Given the description of an element on the screen output the (x, y) to click on. 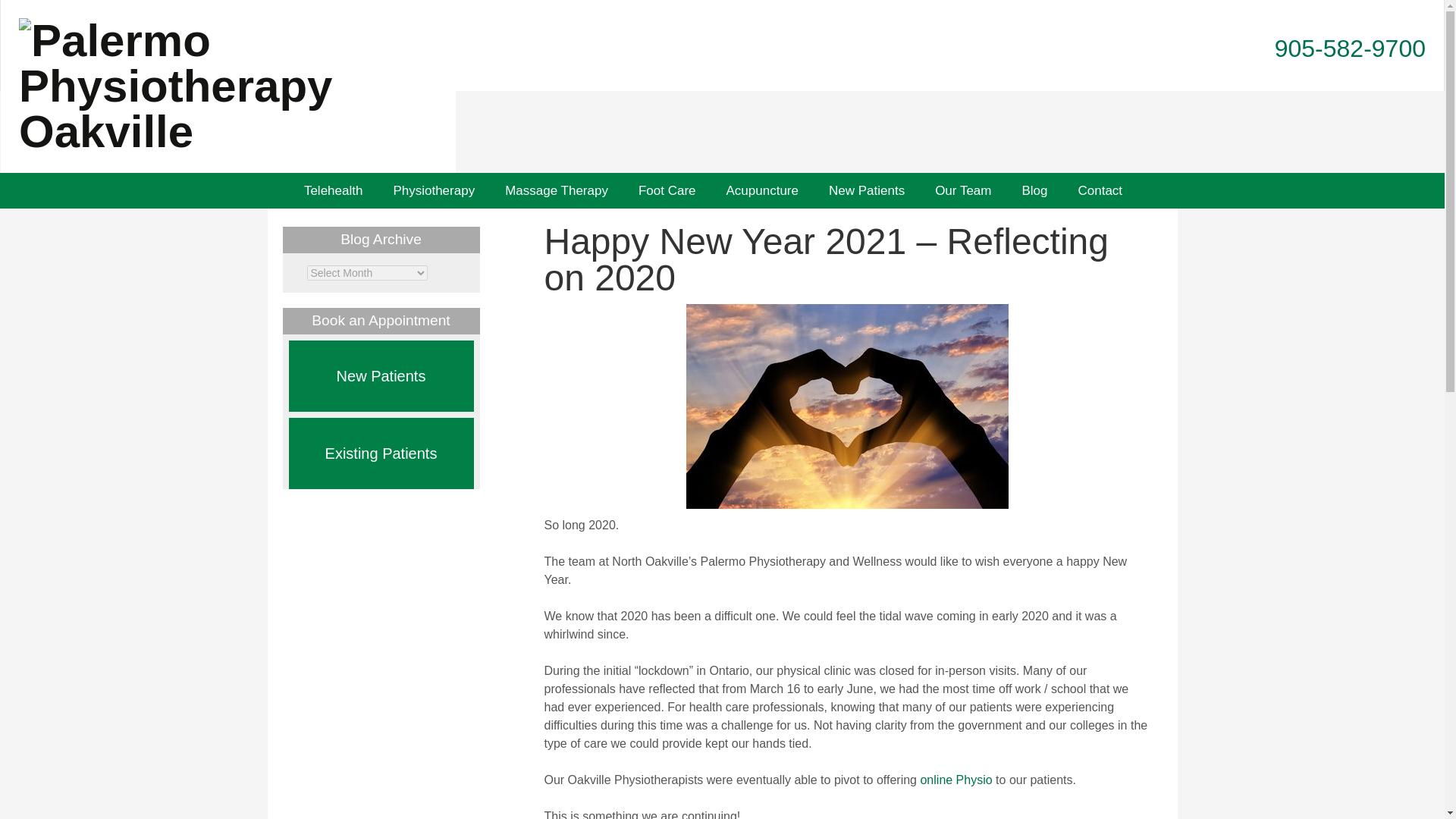
Contact (1100, 190)
Acupuncture (762, 190)
Massage Therapy (556, 190)
Extended Health Insurance (698, 232)
Extended Health Insurance (698, 232)
Telehealth (333, 190)
Physiotherapy (433, 190)
Patient Intake Forms (889, 226)
Chiropody (667, 190)
Contact (1100, 190)
